Given the description of an element on the screen output the (x, y) to click on. 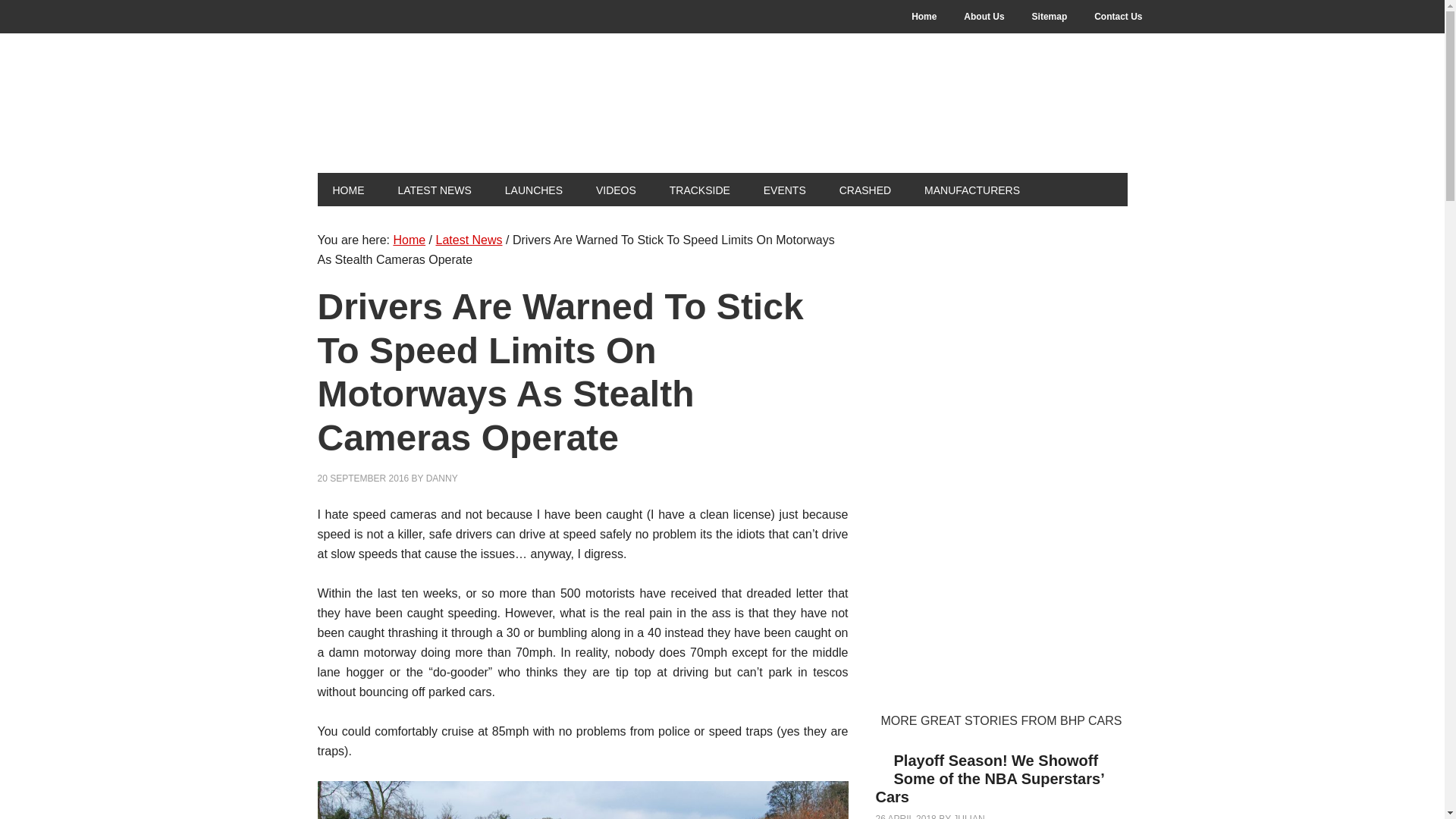
LAUNCHES (533, 189)
LATEST NEWS (433, 189)
TRACKSIDE (699, 189)
Home (409, 239)
Latest News (468, 239)
Sitemap (1050, 16)
Contact Us (1117, 16)
VIDEOS (615, 189)
Home (924, 16)
MANUFACTURERS (971, 189)
